Given the description of an element on the screen output the (x, y) to click on. 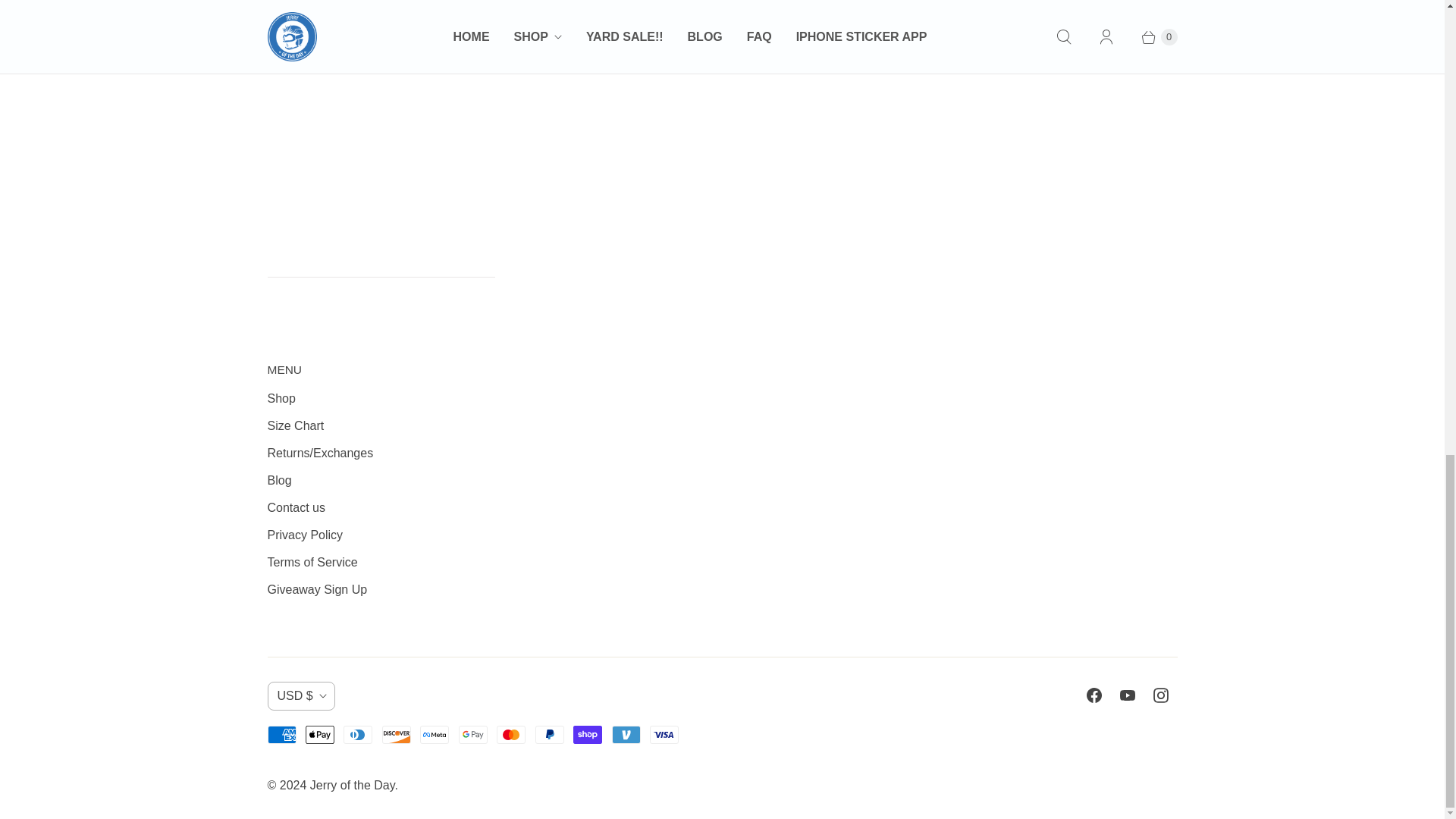
PayPal (549, 734)
Mastercard (510, 734)
American Express (280, 734)
Meta Pay (434, 734)
Google Pay (472, 734)
Diners Club (357, 734)
Visa (663, 734)
Venmo (625, 734)
Shop Pay (587, 734)
Discover (395, 734)
